Given the description of an element on the screen output the (x, y) to click on. 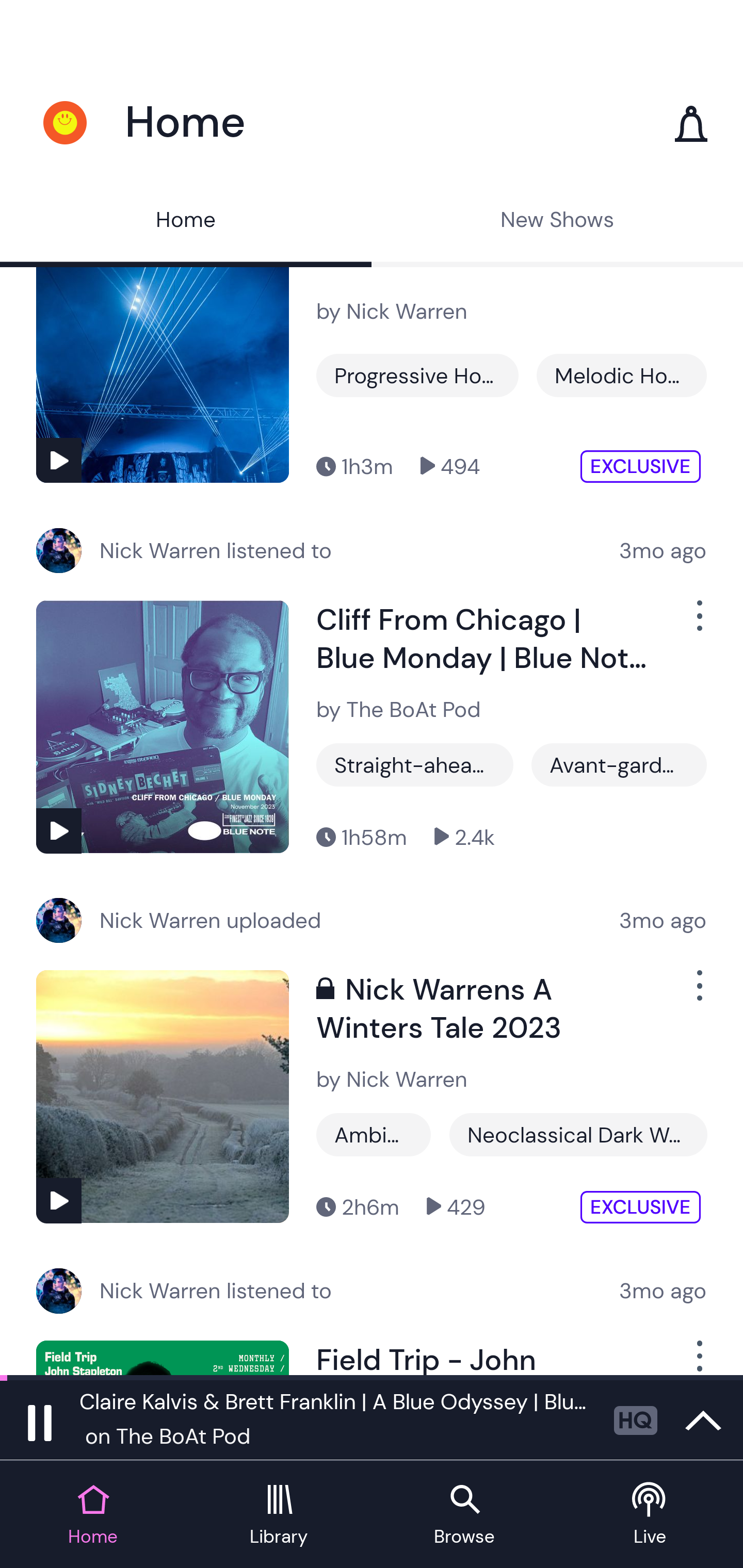
Home (185, 221)
New Shows (557, 221)
Progressive House (417, 375)
Melodic House (621, 375)
Show Options Menu Button (697, 623)
Straight-ahead Jazz (414, 765)
Avant-garde Jazz (618, 765)
Show Options Menu Button (697, 993)
Ambient (373, 1135)
Neoclassical Dark Wave (577, 1135)
Show Options Menu Button (697, 1357)
Home tab Home (92, 1515)
Library tab Library (278, 1515)
Browse tab Browse (464, 1515)
Live tab Live (650, 1515)
